Given the description of an element on the screen output the (x, y) to click on. 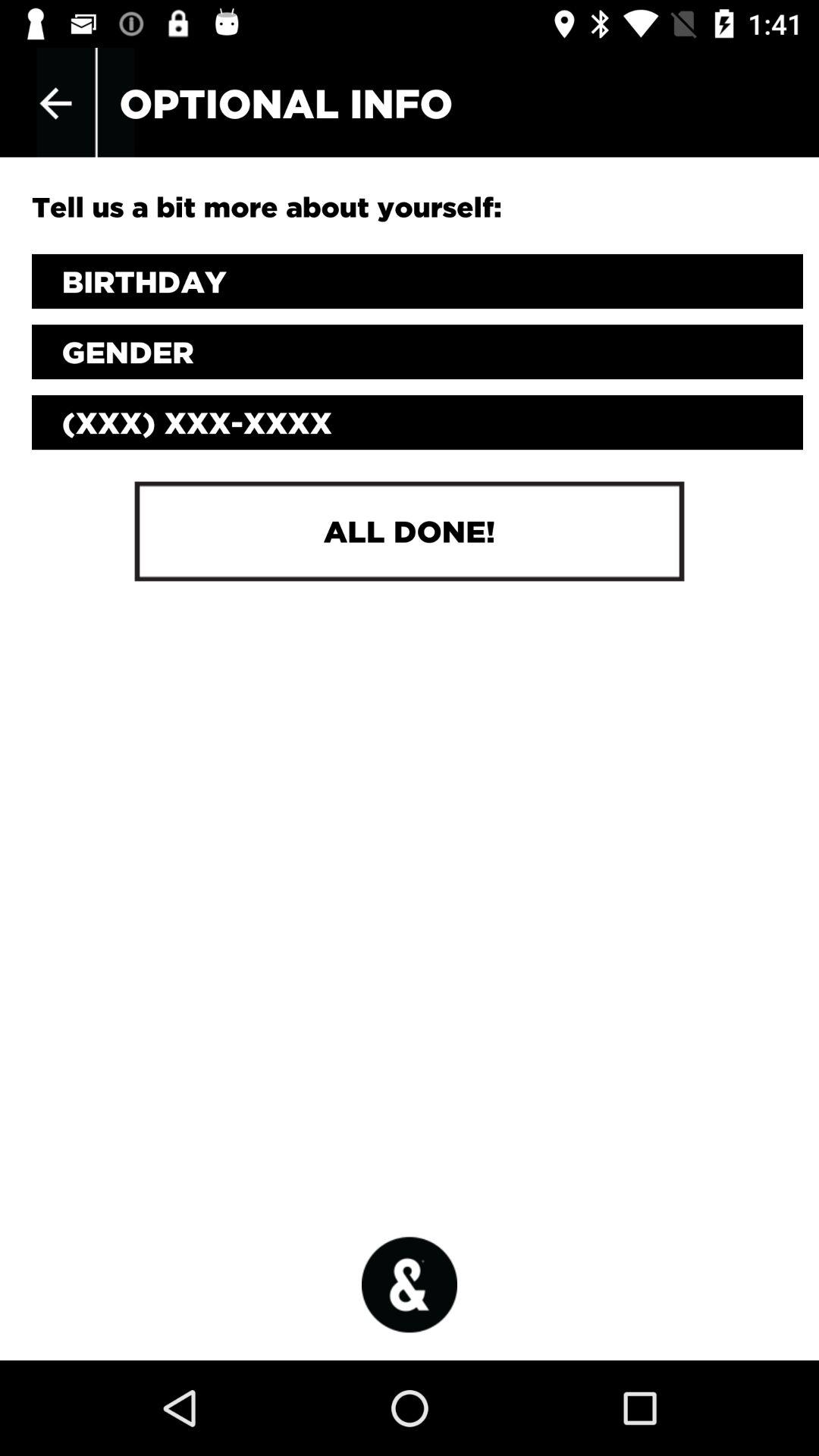
enter your gender (417, 351)
